Given the description of an element on the screen output the (x, y) to click on. 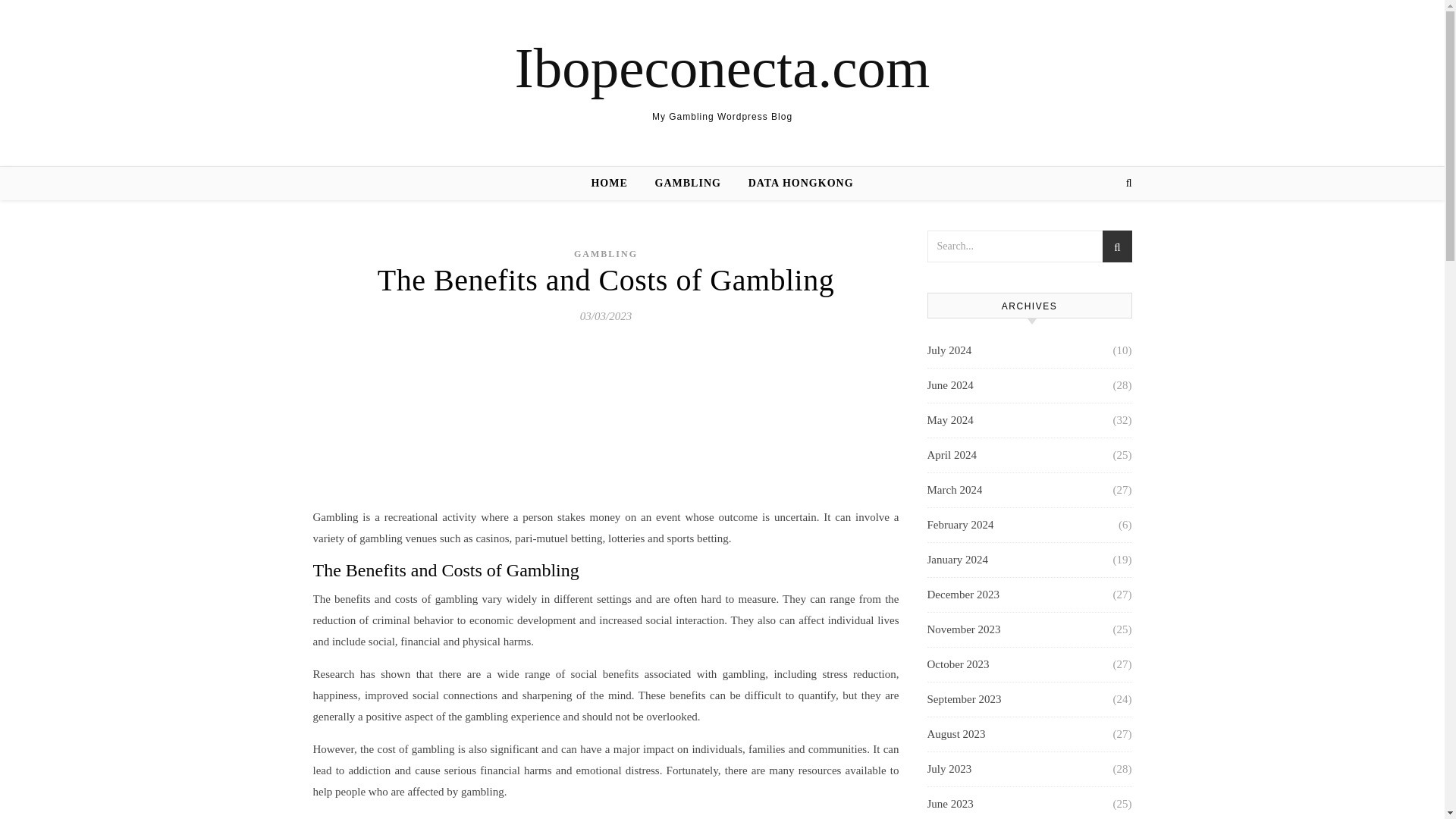
HOME (615, 183)
July 2024 (948, 350)
October 2023 (957, 664)
February 2024 (959, 524)
March 2024 (953, 489)
September 2023 (963, 699)
April 2024 (950, 455)
GAMBLING (688, 183)
November 2023 (963, 629)
January 2024 (956, 559)
June 2023 (949, 803)
July 2023 (948, 769)
August 2023 (955, 734)
December 2023 (962, 594)
Ibopeconecta.com (722, 67)
